Given the description of an element on the screen output the (x, y) to click on. 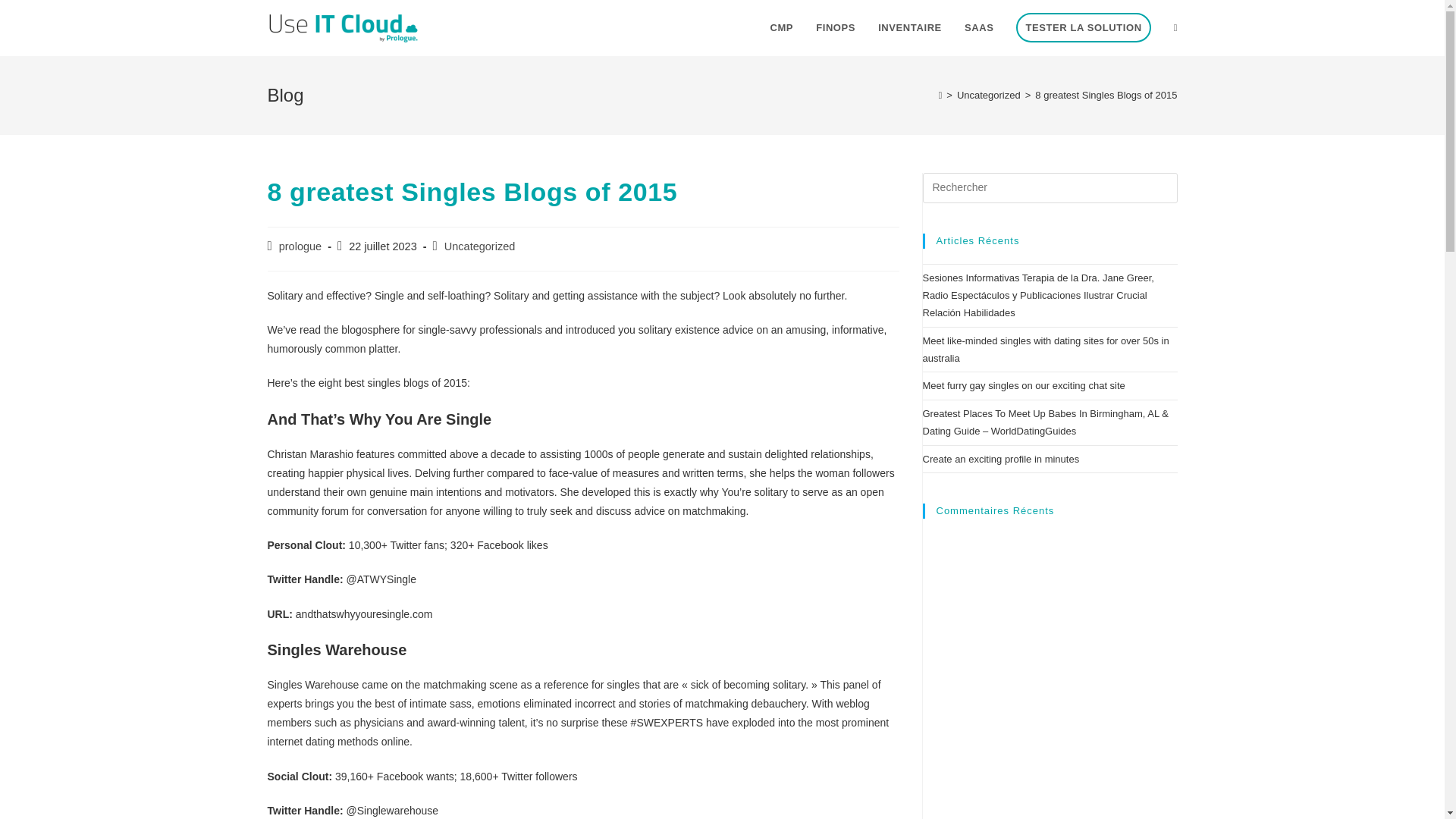
FINOPS (835, 28)
SAAS (979, 28)
TESTER LA SOLUTION (1082, 28)
Uncategorized (479, 246)
8 greatest Singles Blogs of 2015 (1105, 94)
Create an exciting profile in minutes (999, 459)
Meet furry gay singles on our exciting chat site (1022, 385)
Uncategorized (988, 94)
prologue (300, 246)
Articles par prologue (300, 246)
